Given the description of an element on the screen output the (x, y) to click on. 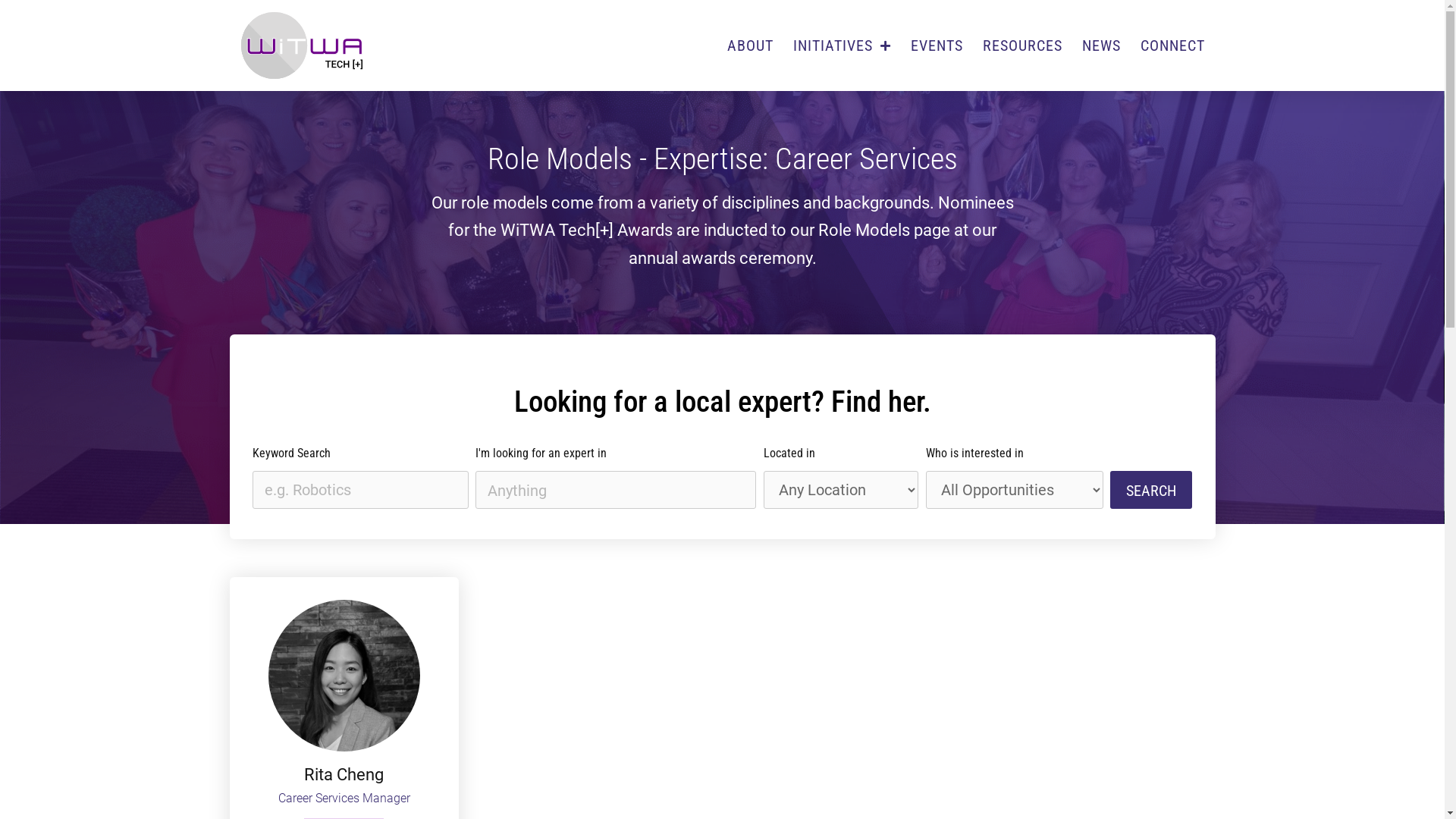
Search by keyword Element type: hover (359, 489)
INITIATIVES Element type: text (841, 45)
Career Services Manager Element type: text (344, 797)
ABOUT Element type: text (750, 45)
Rita Cheng Element type: text (343, 774)
EVENTS Element type: text (936, 45)
Search Element type: text (1151, 489)
CONNECT Element type: text (1172, 45)
RESOURCES Element type: text (1022, 45)
NEWS Element type: text (1101, 45)
Search by expertise Element type: hover (615, 489)
